Given the description of an element on the screen output the (x, y) to click on. 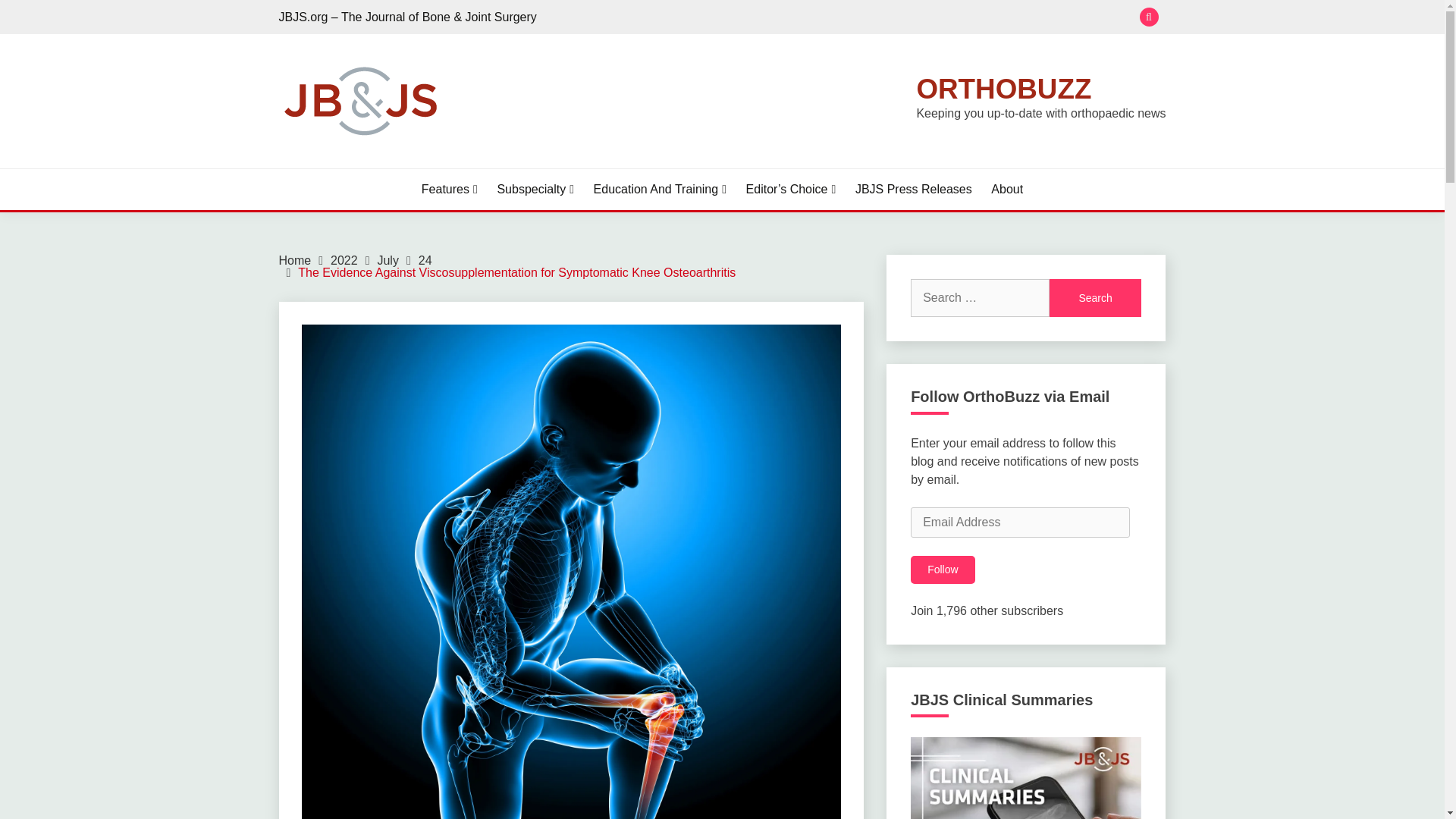
JBJS Press Releases (914, 189)
Education And Training (660, 189)
Search (1095, 297)
ORTHOBUZZ (1002, 88)
Search (832, 18)
Features (449, 189)
Try Clinical Classroom (1026, 778)
About (1007, 189)
Search (1095, 297)
Subspecialty (534, 189)
